Given the description of an element on the screen output the (x, y) to click on. 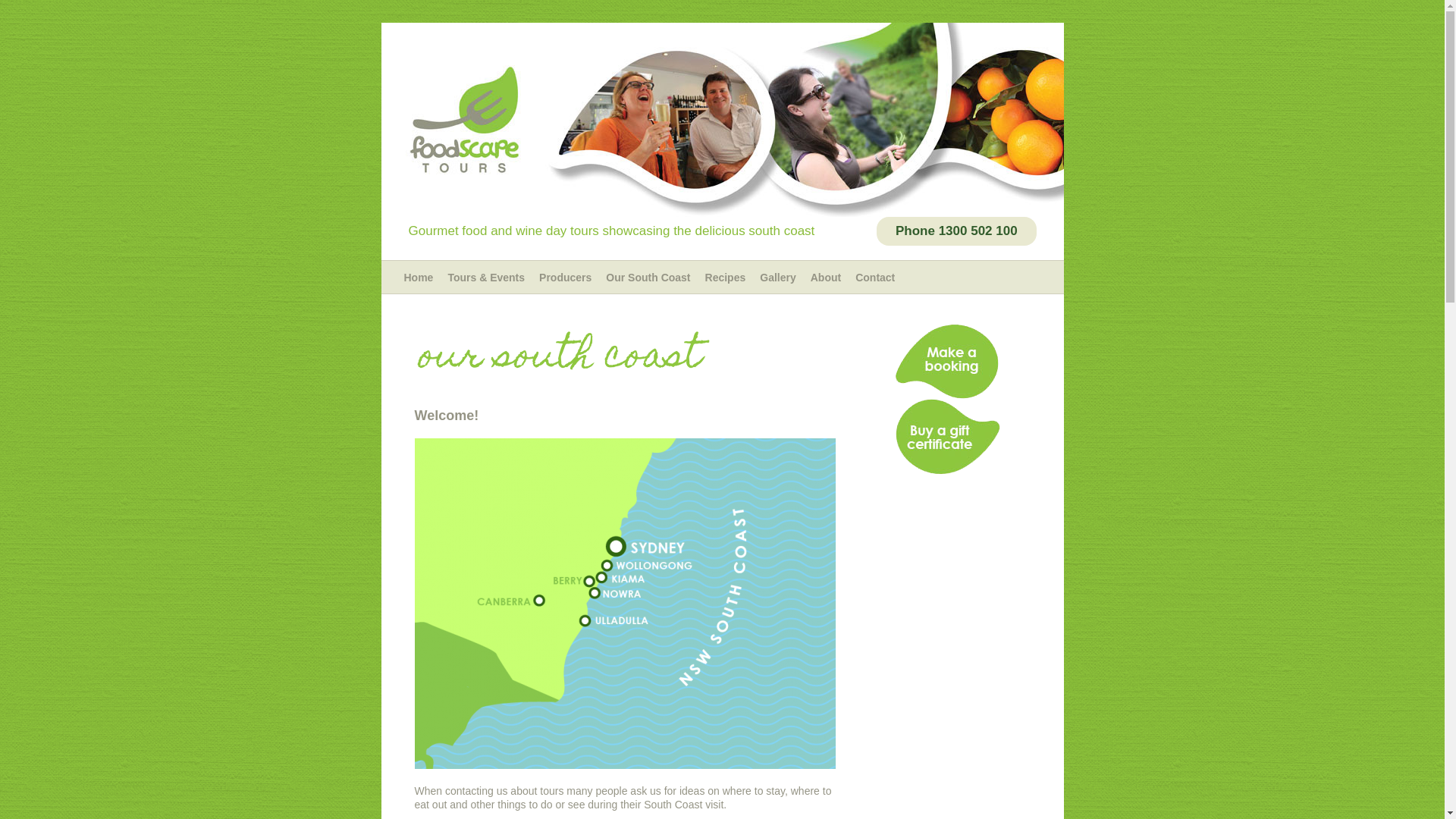
Buy a [break]   gift certificate Element type: text (946, 436)
Gallery Element type: text (777, 277)
Contact Element type: text (874, 277)
Tours & Events Element type: text (485, 277)
Producers Element type: text (565, 277)
Recipes Element type: text (725, 277)
make a booking Element type: text (946, 361)
About Element type: text (825, 277)
Our South Coast Element type: text (647, 277)
Home Element type: text (418, 277)
South Coast Map Element type: hover (624, 603)
